Given the description of an element on the screen output the (x, y) to click on. 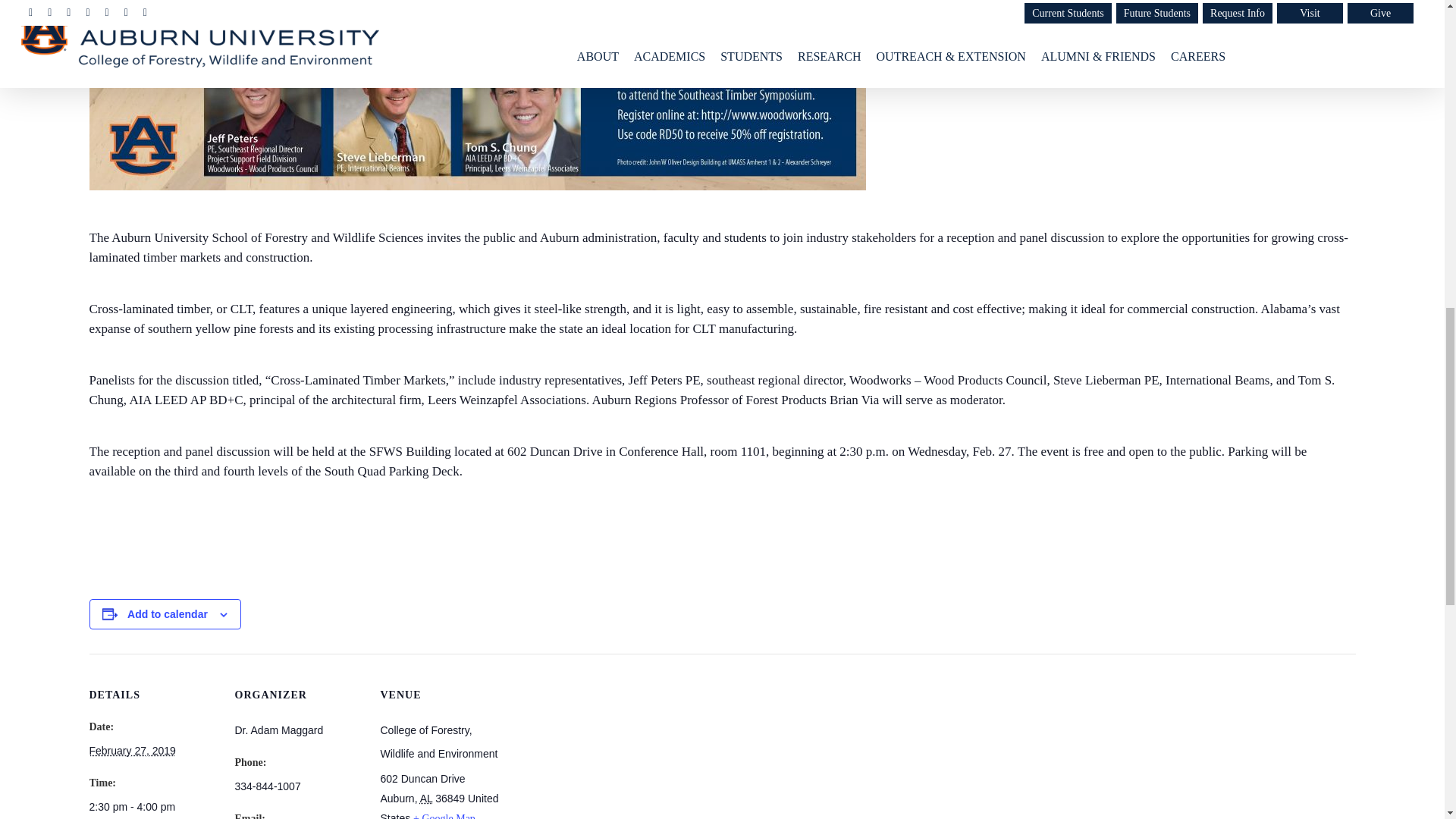
2019-02-27 (152, 807)
2019-02-27 (132, 750)
Click to view a Google Map (444, 816)
Alabama (426, 798)
